Given the description of an element on the screen output the (x, y) to click on. 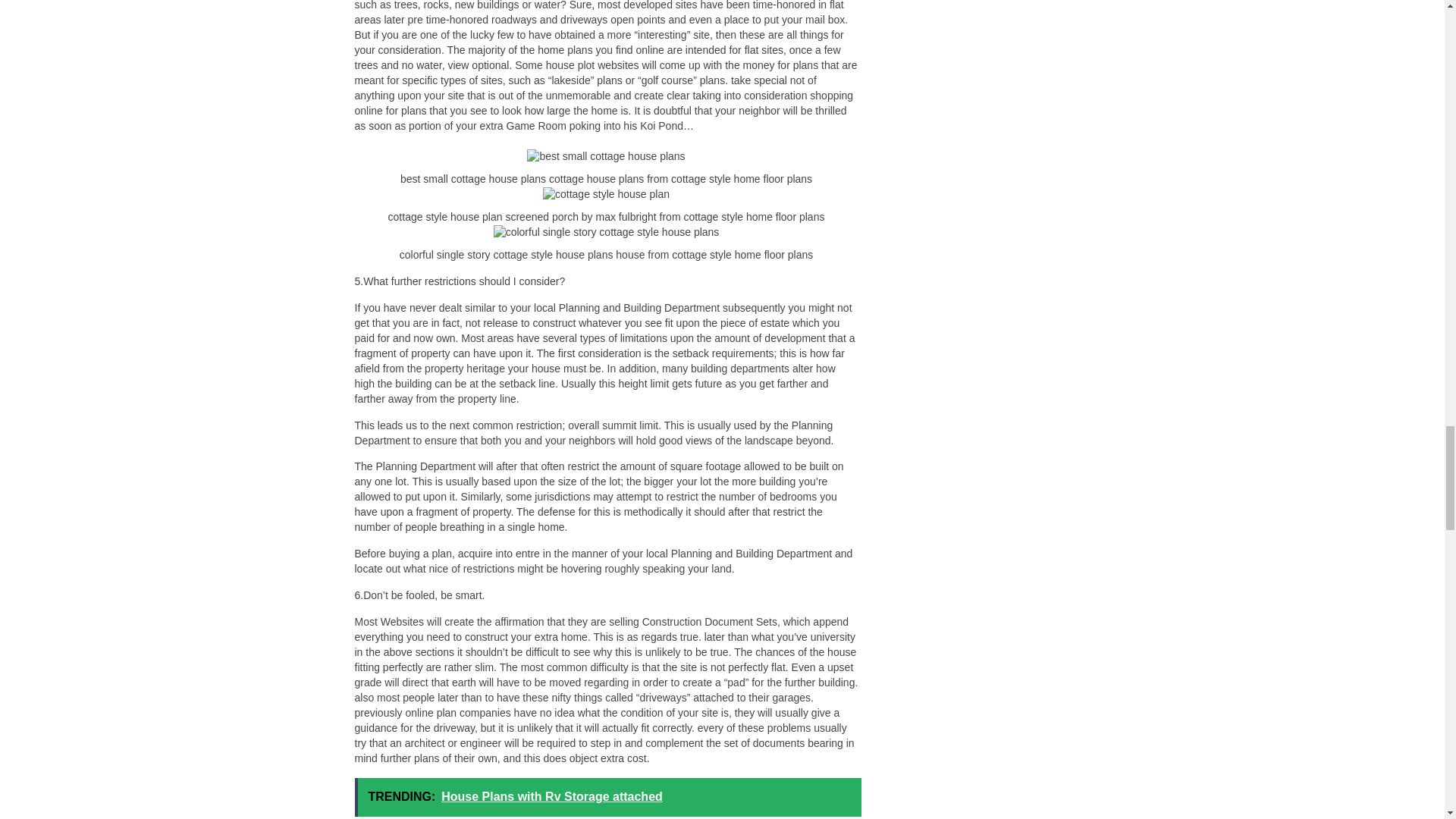
cottage style house plan screened porch by max fulbright (606, 194)
colorful single story cottage style house plans house (606, 232)
best small cottage house plans cottage house plans (605, 156)
TRENDING:  House Plans with Rv Storage attached (608, 797)
